Given the description of an element on the screen output the (x, y) to click on. 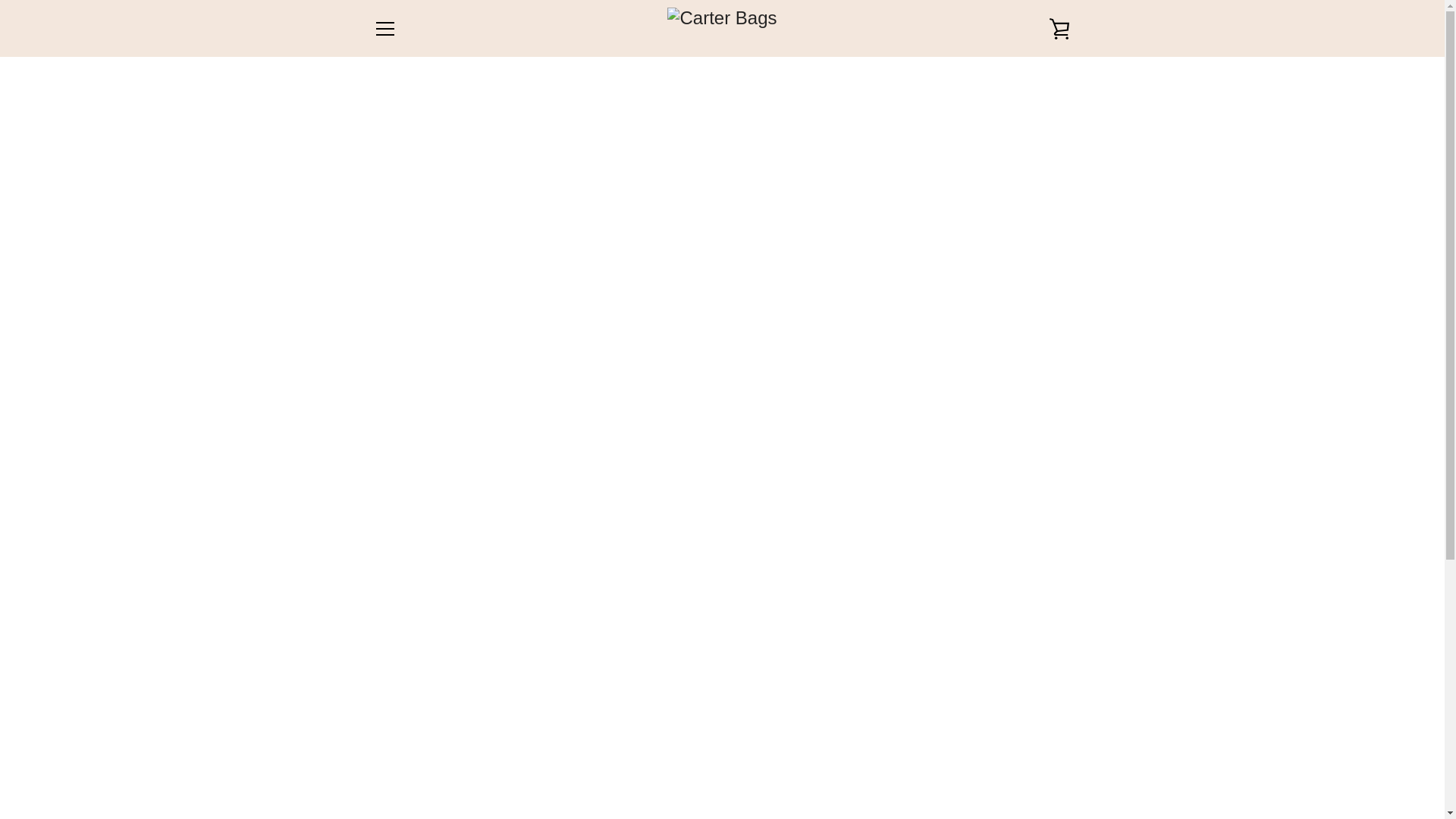
MENU (384, 27)
VIEW CART (1059, 27)
